Given the description of an element on the screen output the (x, y) to click on. 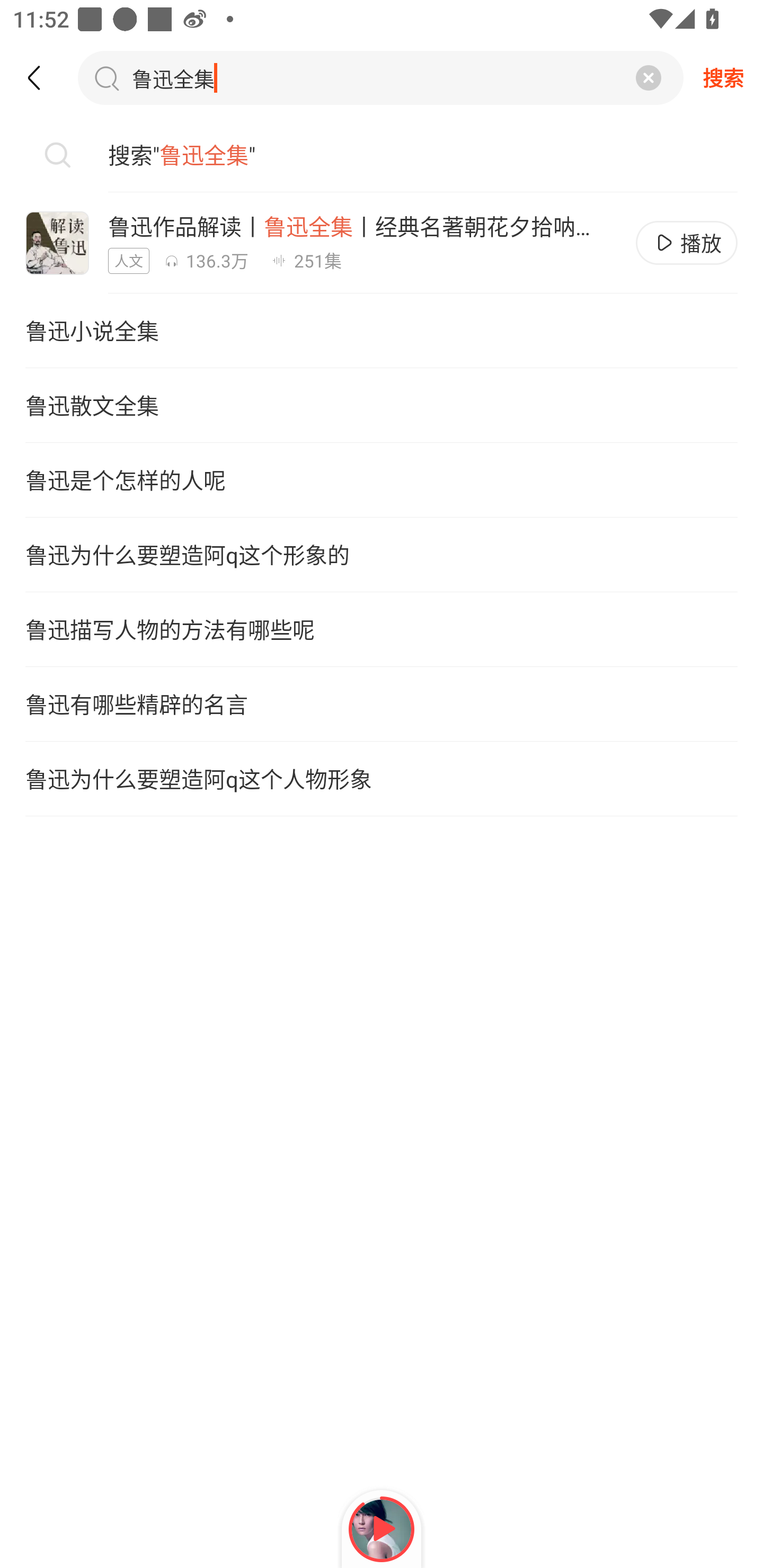
返回 (43, 77)
已经选择搜索功能,当前搜索框内容为鲁迅全集 鲁迅全集 清除搜索内容 (380, 77)
清除搜索内容 (648, 77)
搜索 (723, 77)
鲁迅全集 (206, 77)
  搜索"鲁迅全集"  (381, 154)
播放或暂停 播放 (686, 242)
鲁迅小说全集 (381, 330)
鲁迅散文全集 (381, 405)
鲁迅是个怎样的人呢 (381, 479)
鲁迅为什么要塑造阿q这个形象的 (381, 554)
鲁迅描写人物的方法有哪些呢 (381, 629)
鲁迅有哪些精辟的名言 (381, 703)
鲁迅为什么要塑造阿q这个人物形象 (381, 778)
继续播放Alpha-橘子海OrangeOcean (381, 1529)
